Given the description of an element on the screen output the (x, y) to click on. 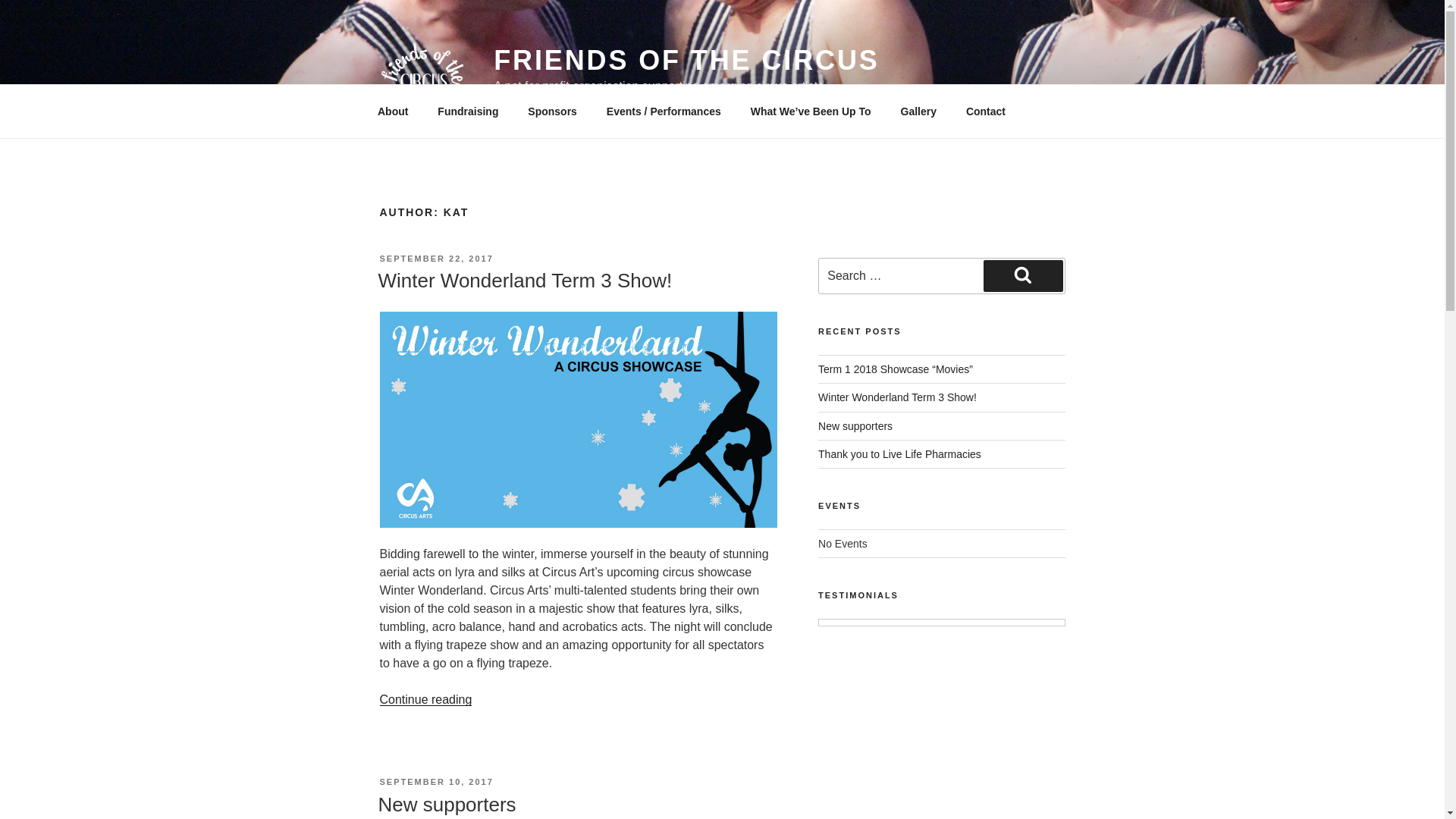
Search (1023, 275)
Thank you to Live Life Pharmacies (899, 453)
Contact (984, 110)
SEPTEMBER 22, 2017 (435, 257)
About (392, 110)
New supporters (855, 426)
New supporters (446, 804)
SEPTEMBER 10, 2017 (435, 781)
Gallery (917, 110)
FRIENDS OF THE CIRCUS (686, 60)
Sponsors (553, 110)
Winter Wonderland Term 3 Show! (897, 397)
Fundraising (468, 110)
Winter Wonderland Term 3 Show! (524, 280)
